Given the description of an element on the screen output the (x, y) to click on. 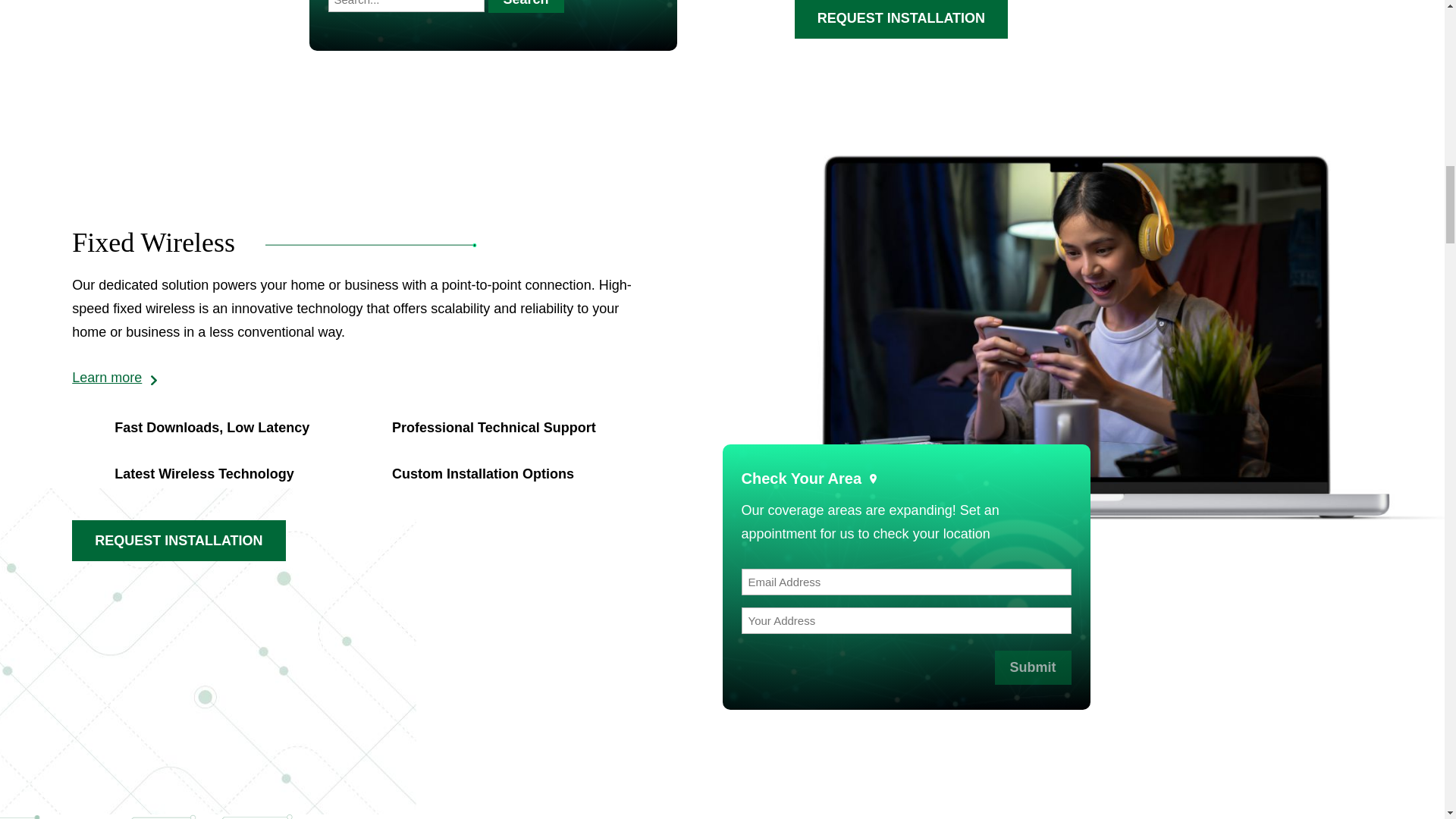
Learn more (114, 377)
REQUEST INSTALLATION (900, 19)
Submit (1032, 667)
Submit (1032, 667)
REQUEST INSTALLATION (178, 540)
Search (525, 6)
